Given the description of an element on the screen output the (x, y) to click on. 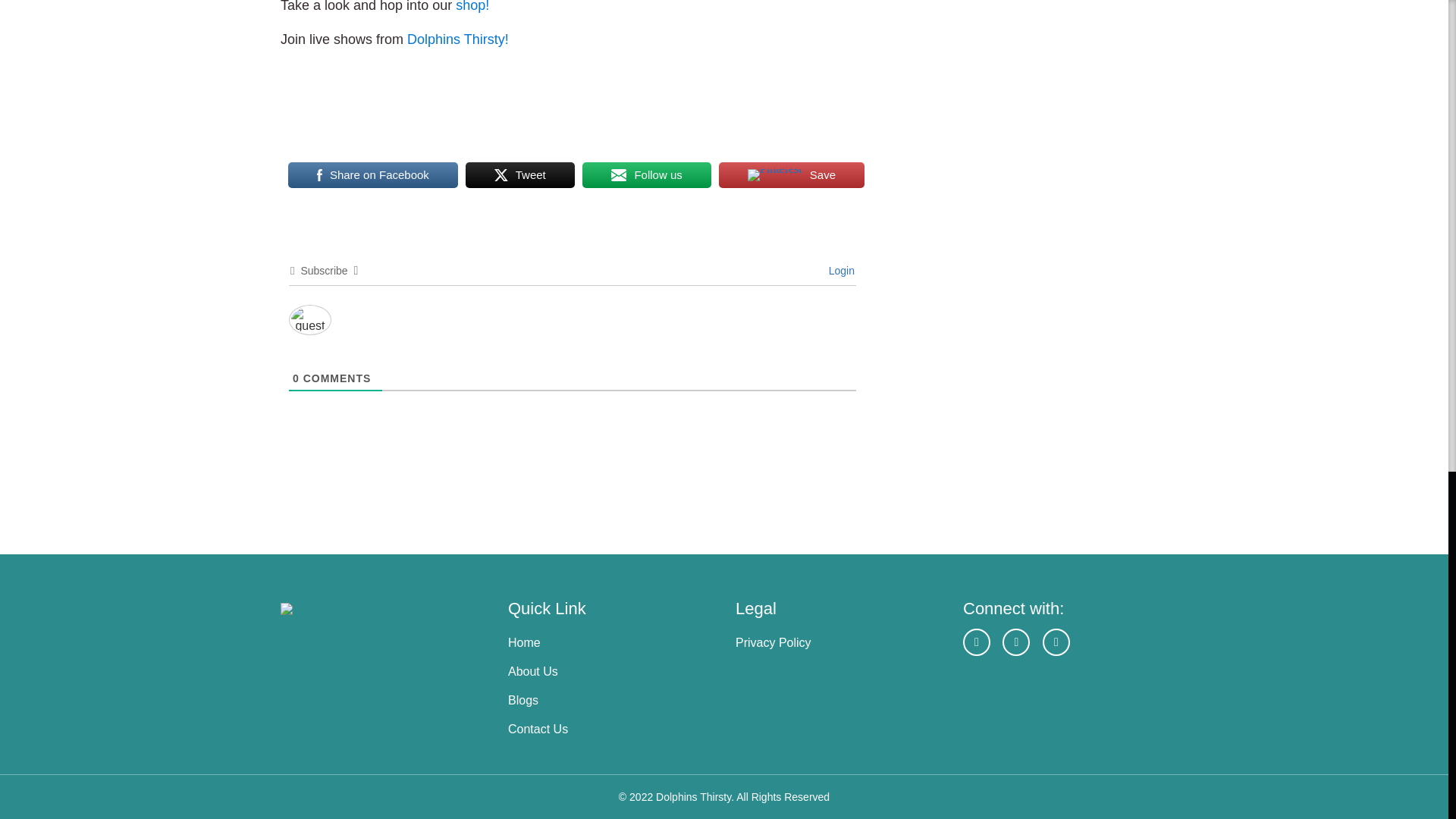
Follow us (646, 174)
Login (839, 270)
Dolphins Thirsty! (457, 38)
Tweet (520, 174)
shop! (472, 6)
Share on Facebook (373, 174)
Save (791, 174)
